Given the description of an element on the screen output the (x, y) to click on. 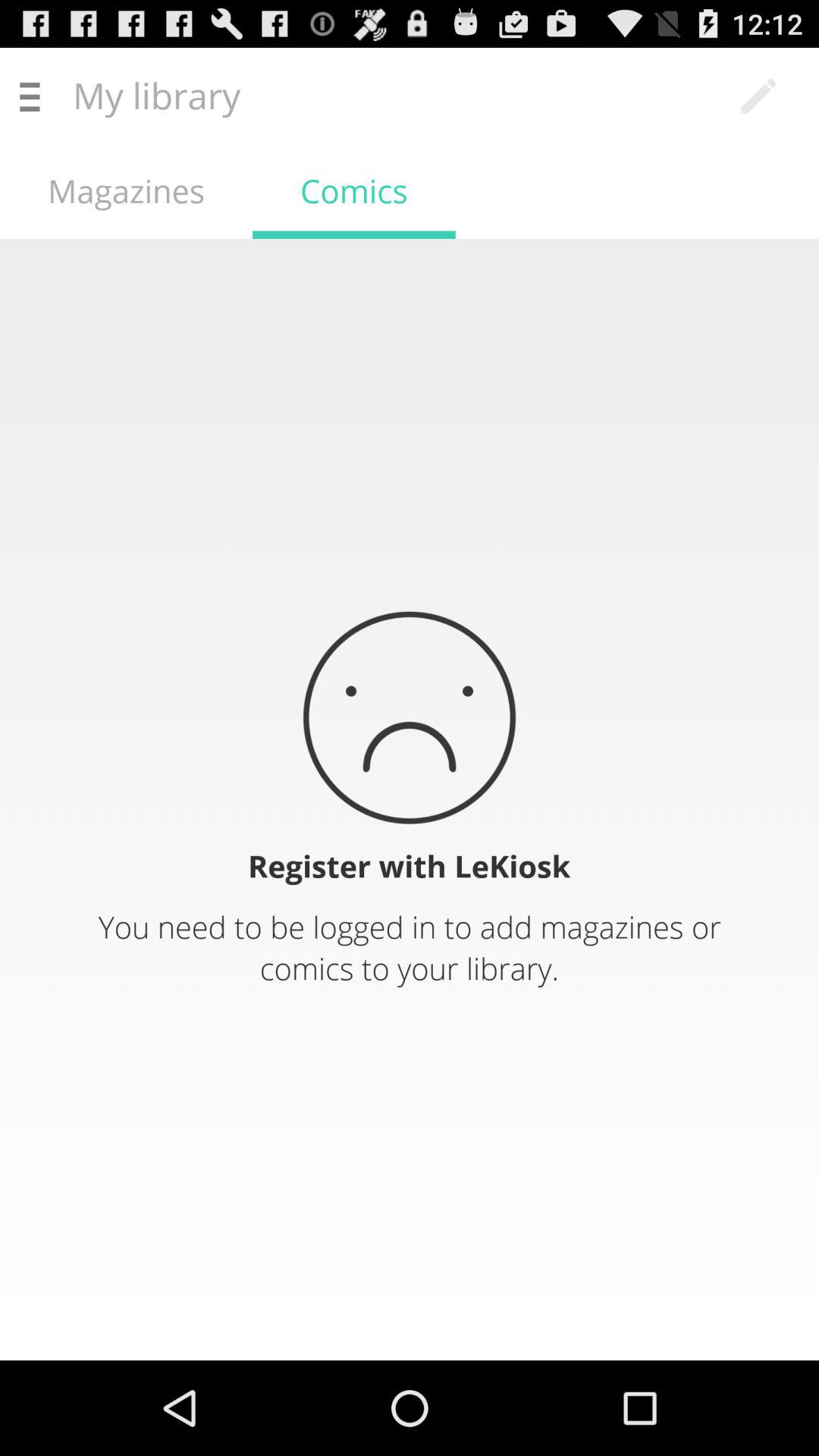
turn off icon below the magazines app (409, 799)
